Given the description of an element on the screen output the (x, y) to click on. 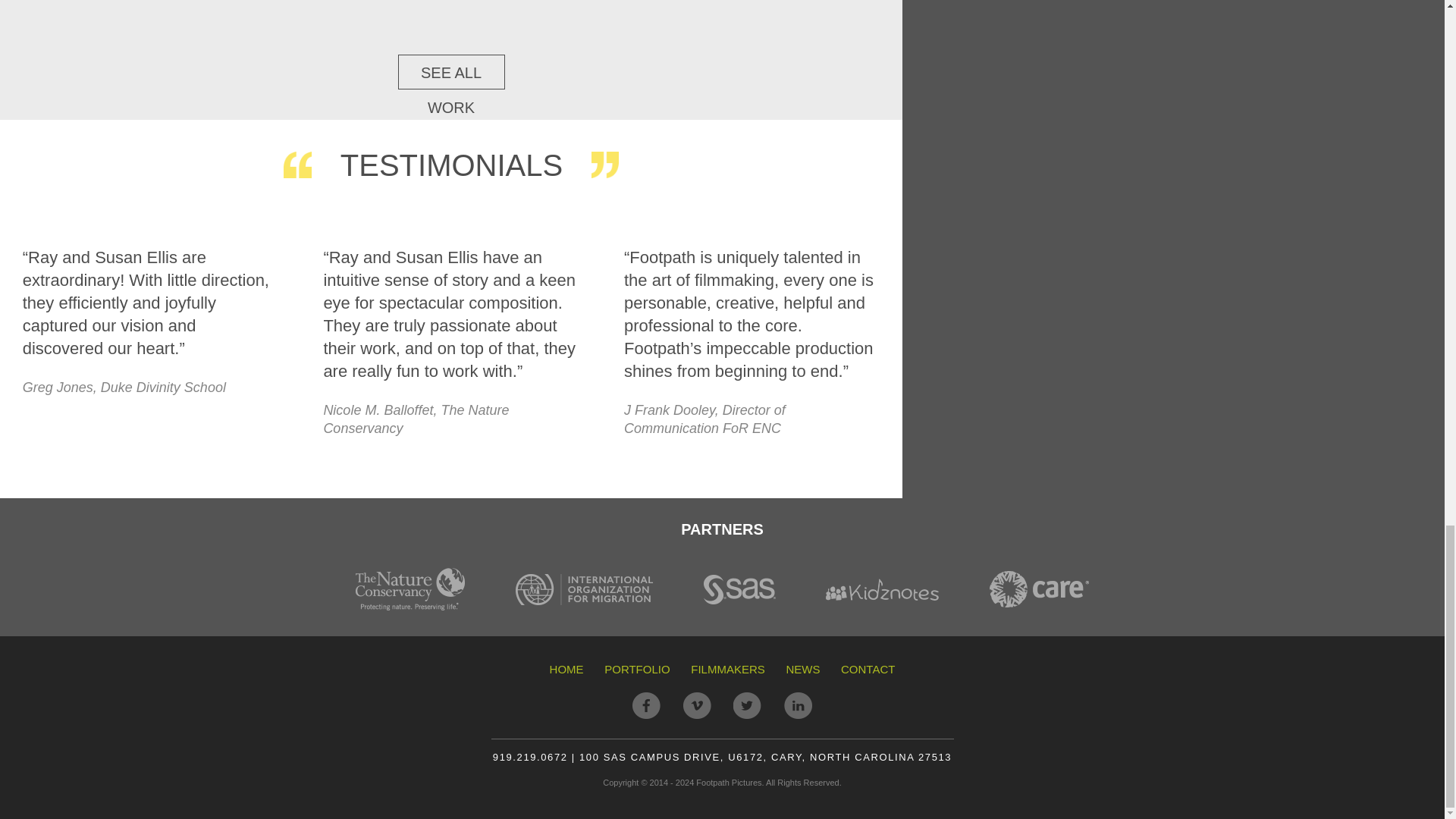
NEWS (802, 670)
PORTFOLIO (636, 670)
CONTACT (867, 670)
FILMMAKERS (727, 670)
SEE ALL WORK (450, 71)
HOME (566, 670)
